Given the description of an element on the screen output the (x, y) to click on. 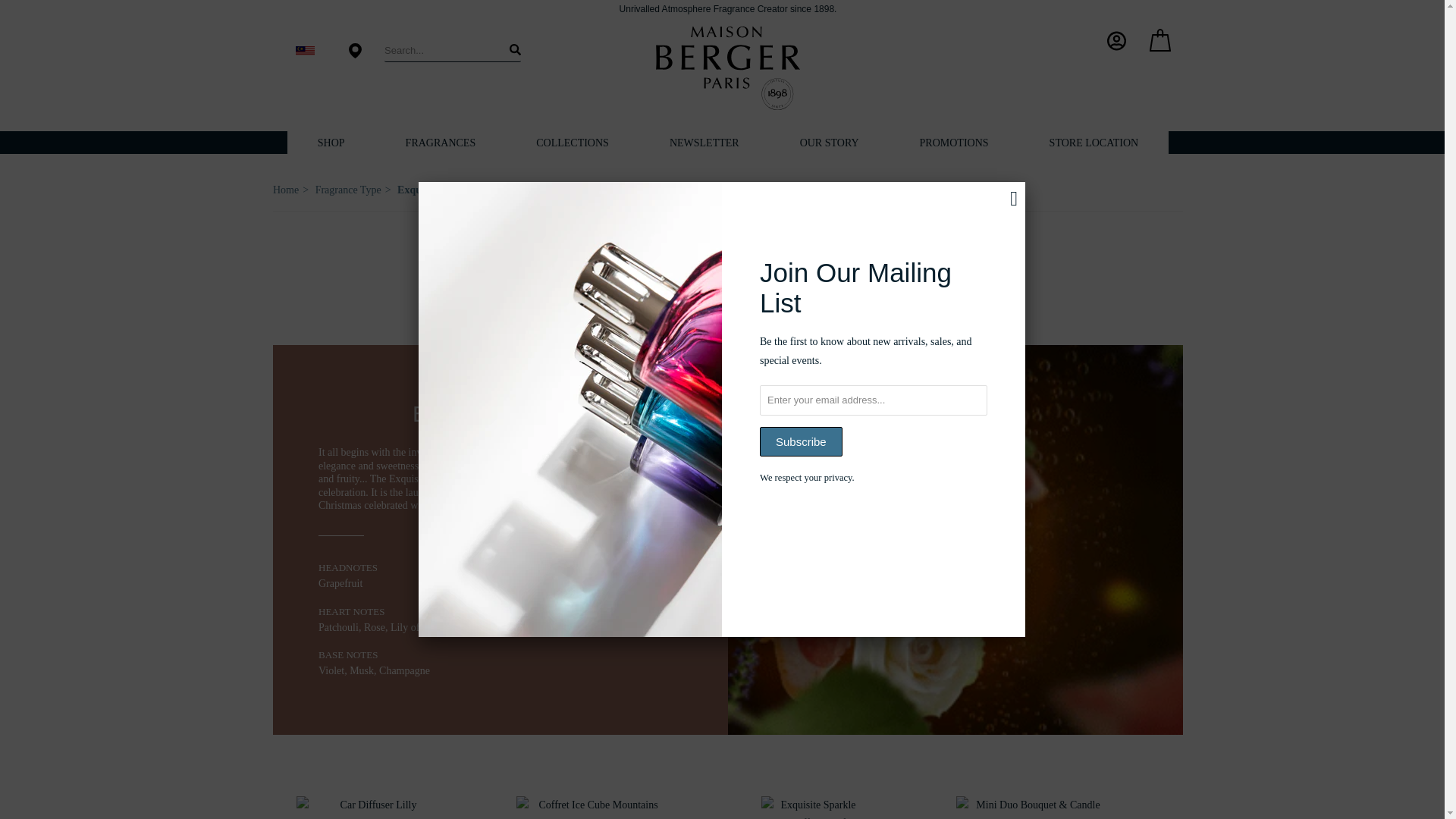
Subscribe (801, 441)
ICO-SEARCH (515, 49)
ICO-SEARCH (515, 49)
logo (727, 67)
